Given the description of an element on the screen output the (x, y) to click on. 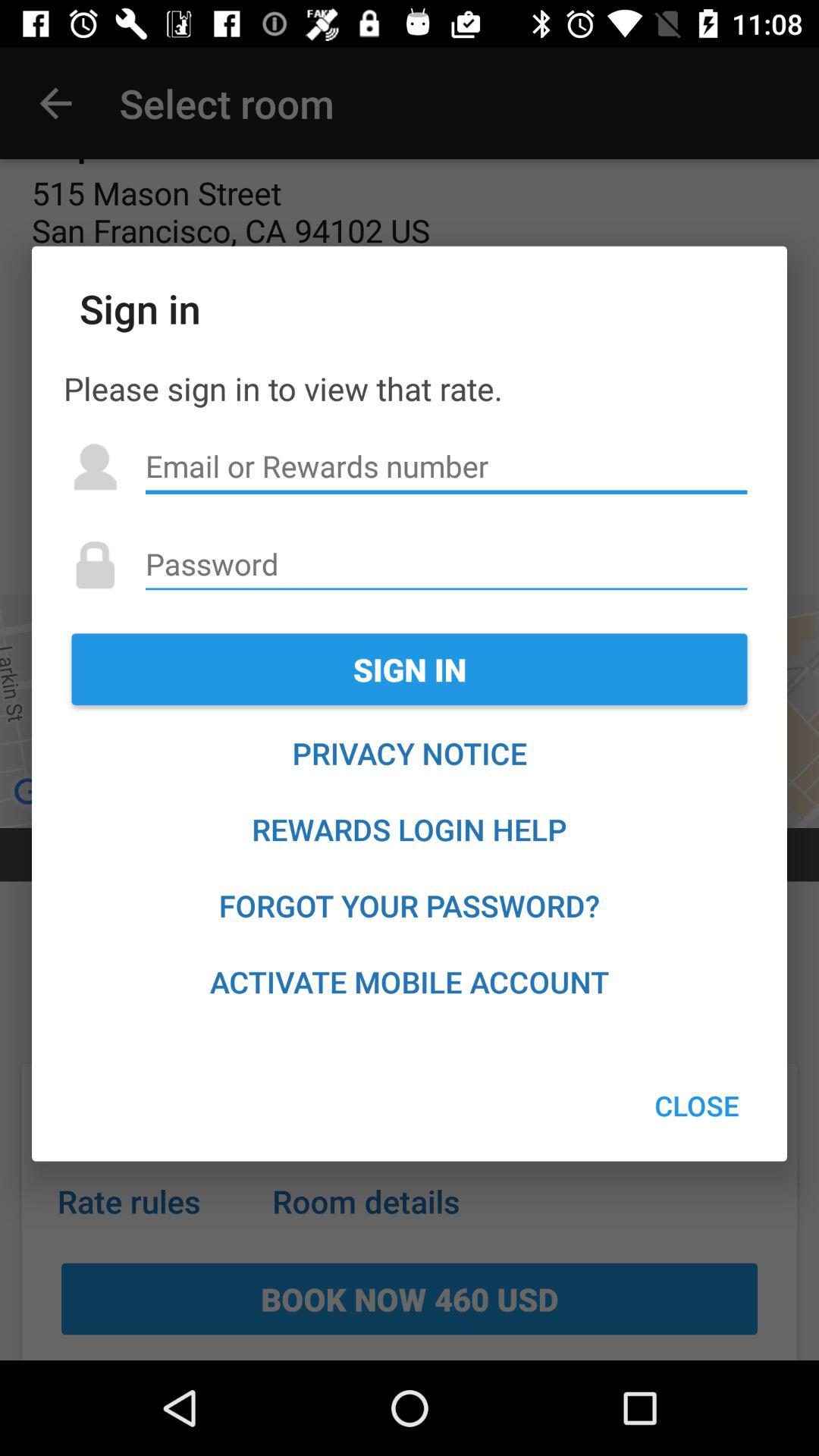
flip until the privacy notice icon (409, 753)
